Given the description of an element on the screen output the (x, y) to click on. 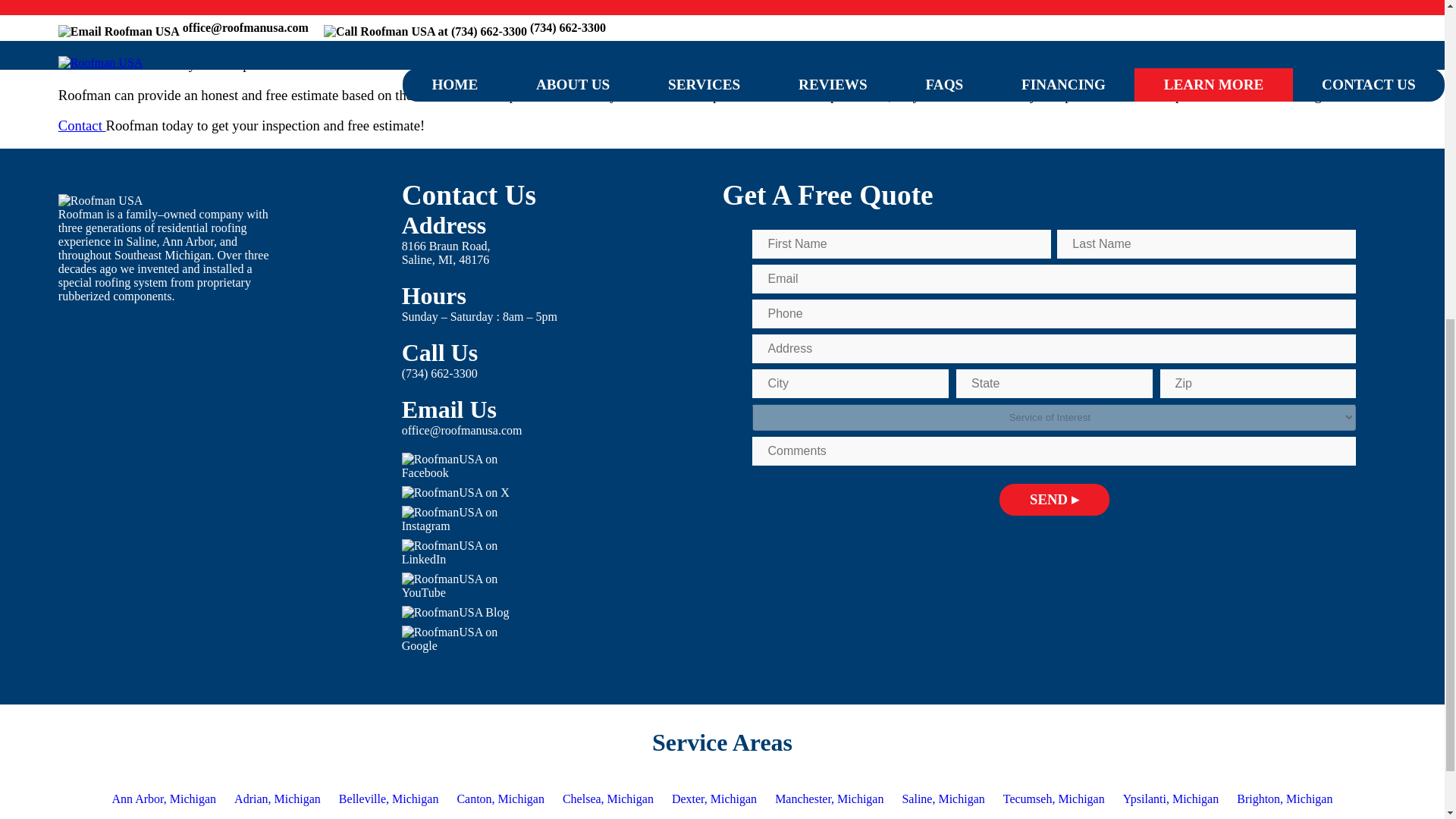
Canton, Michigan (499, 799)
Contact (82, 125)
roofing company in Ann Arbor (164, 5)
Ann Arbor, Michigan (164, 799)
Chelsea, Michigan (607, 799)
Belleville, Michigan (445, 252)
Adrian, Michigan (388, 799)
